Given the description of an element on the screen output the (x, y) to click on. 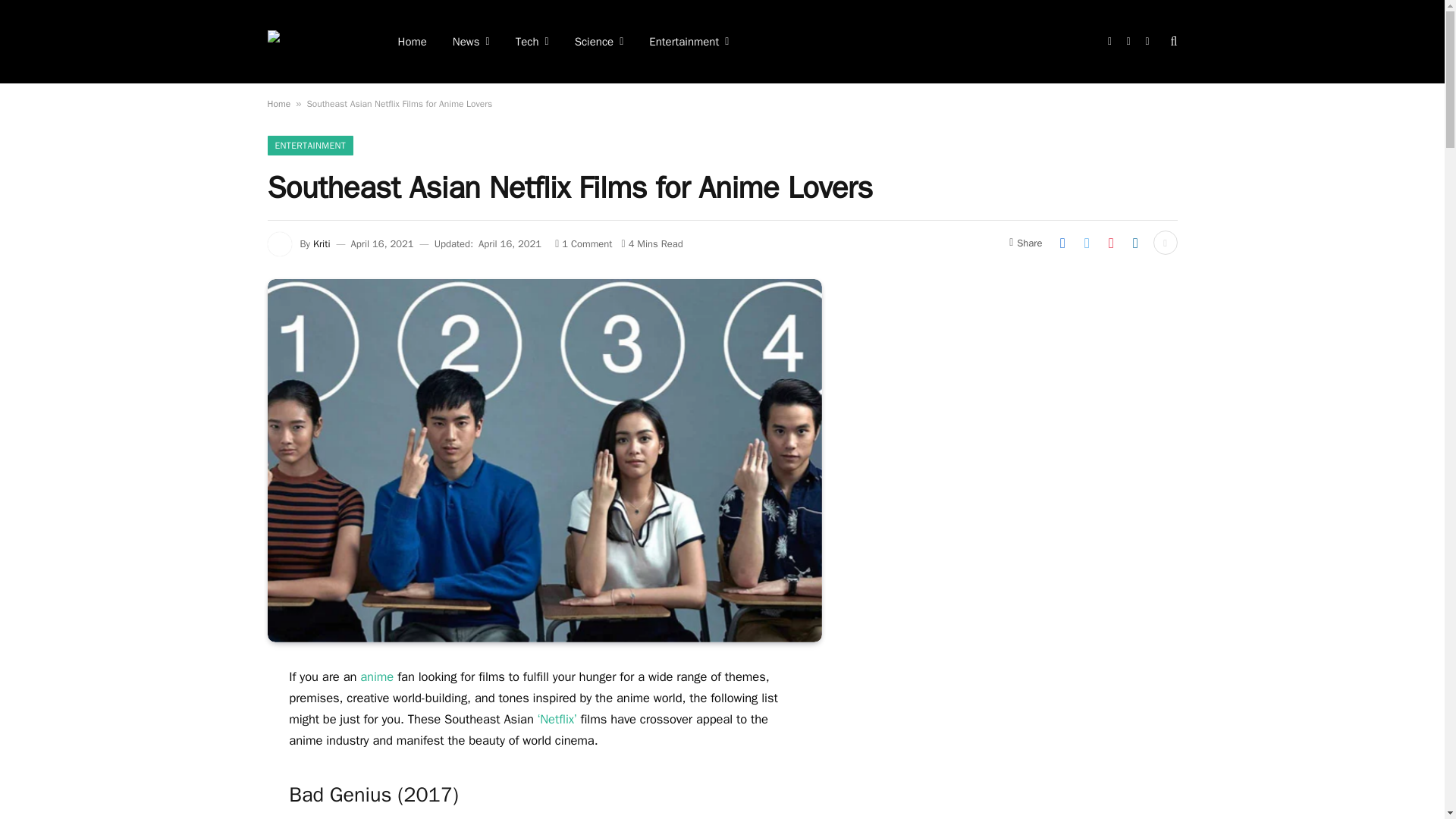
Share on Pinterest (1110, 242)
Craffic (312, 41)
Show More Social Sharing (1164, 242)
Entertainment (688, 41)
Share on LinkedIn (1135, 242)
Share on Facebook (1062, 242)
Science (599, 41)
